Given the description of an element on the screen output the (x, y) to click on. 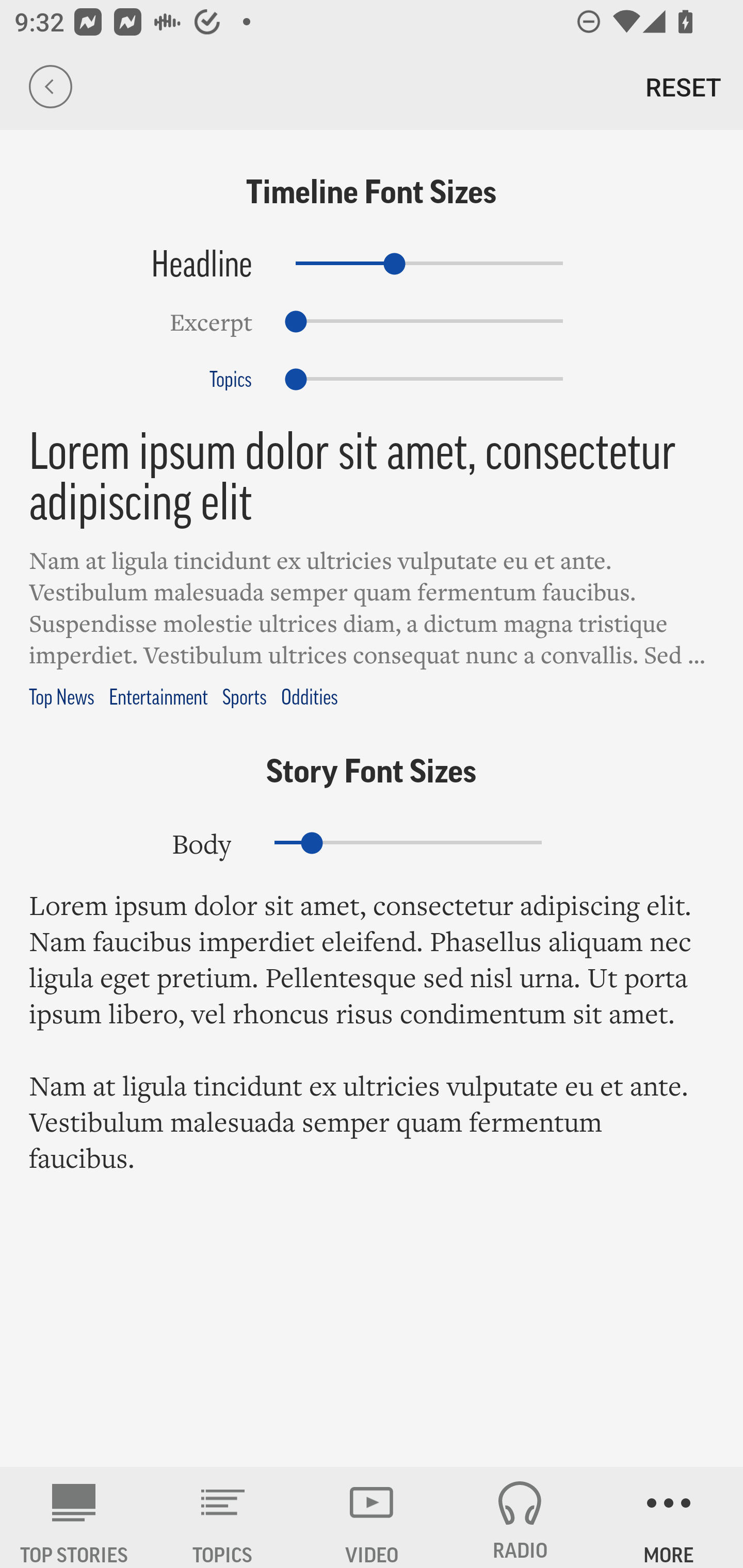
RESET (683, 86)
AP News TOP STORIES (74, 1517)
TOPICS (222, 1517)
VIDEO (371, 1517)
RADIO (519, 1517)
MORE (668, 1517)
